Given the description of an element on the screen output the (x, y) to click on. 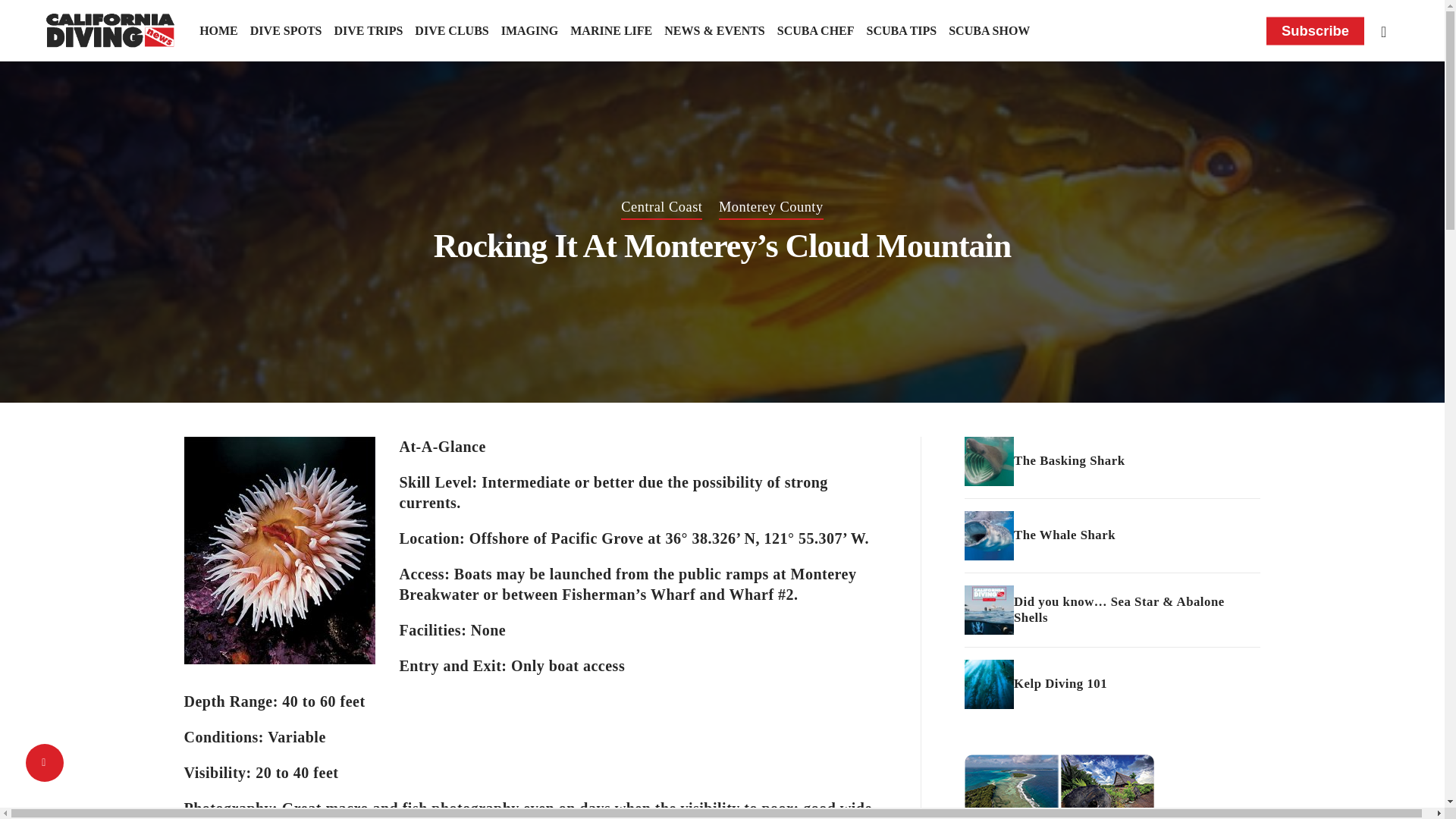
SCUBA SHOW (989, 30)
SCUBA CHEF (815, 30)
DIVE SPOTS (285, 30)
Subscribe (1315, 30)
The Basking Shark (1111, 461)
MARINE LIFE (611, 30)
DIVE CLUBS (450, 30)
The Whale Shark (1111, 535)
Kelp Diving 101 (1111, 684)
HOME (218, 30)
DIVE TRIPS (368, 30)
IMAGING (529, 30)
Monterey County (771, 207)
Central Coast (661, 207)
SCUBA TIPS (901, 30)
